Given the description of an element on the screen output the (x, y) to click on. 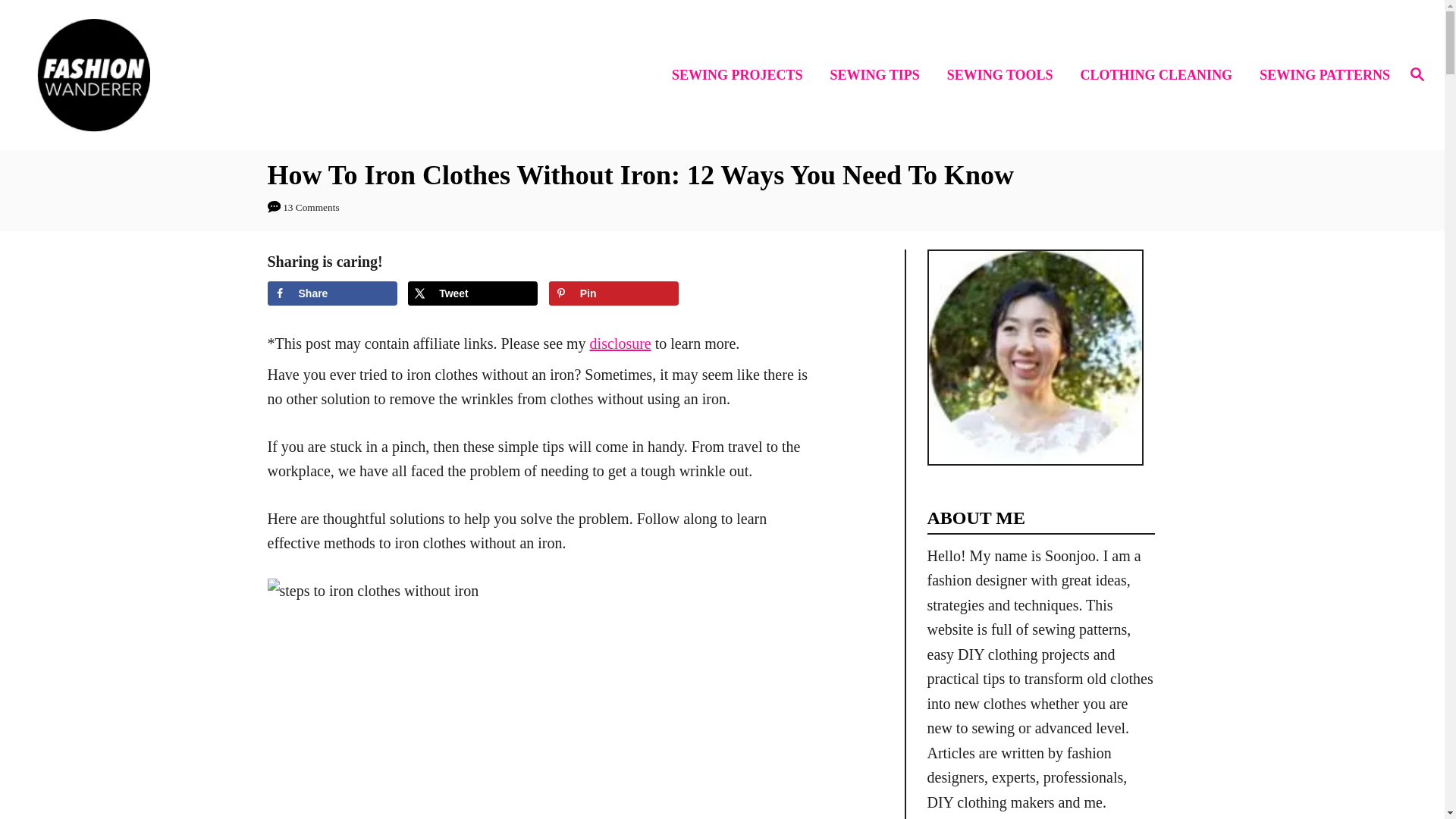
CLOTHING CLEANING (1160, 75)
Tweet (472, 293)
Share (331, 293)
Magnifying Glass (1416, 74)
SEWING TIPS (879, 75)
steps to iron clothes without iron (460, 698)
Pin (613, 293)
Share on X (472, 293)
disclosure (619, 343)
Share on Facebook (331, 293)
